Given the description of an element on the screen output the (x, y) to click on. 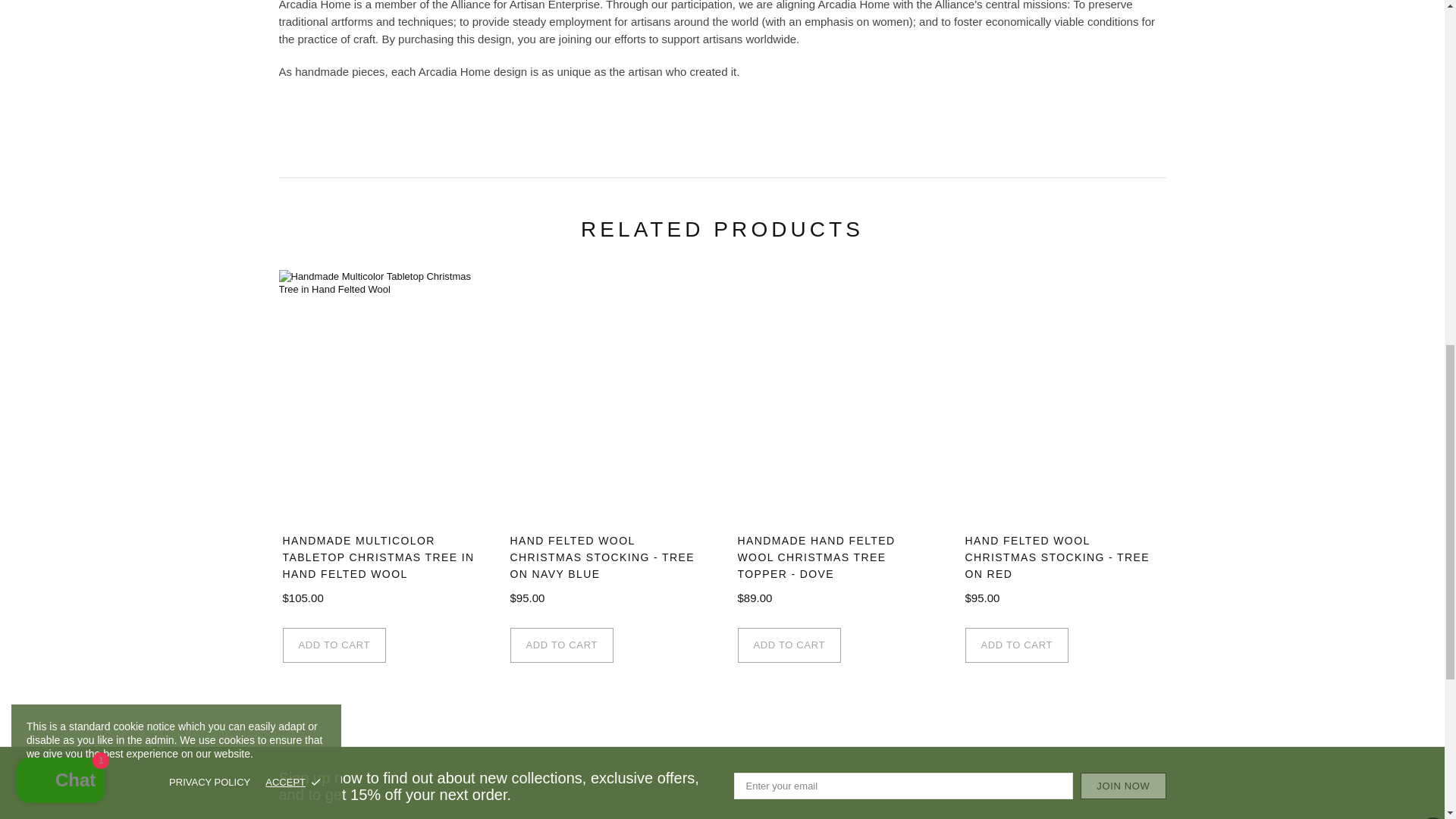
JOIN NOW (1123, 786)
